Given the description of an element on the screen output the (x, y) to click on. 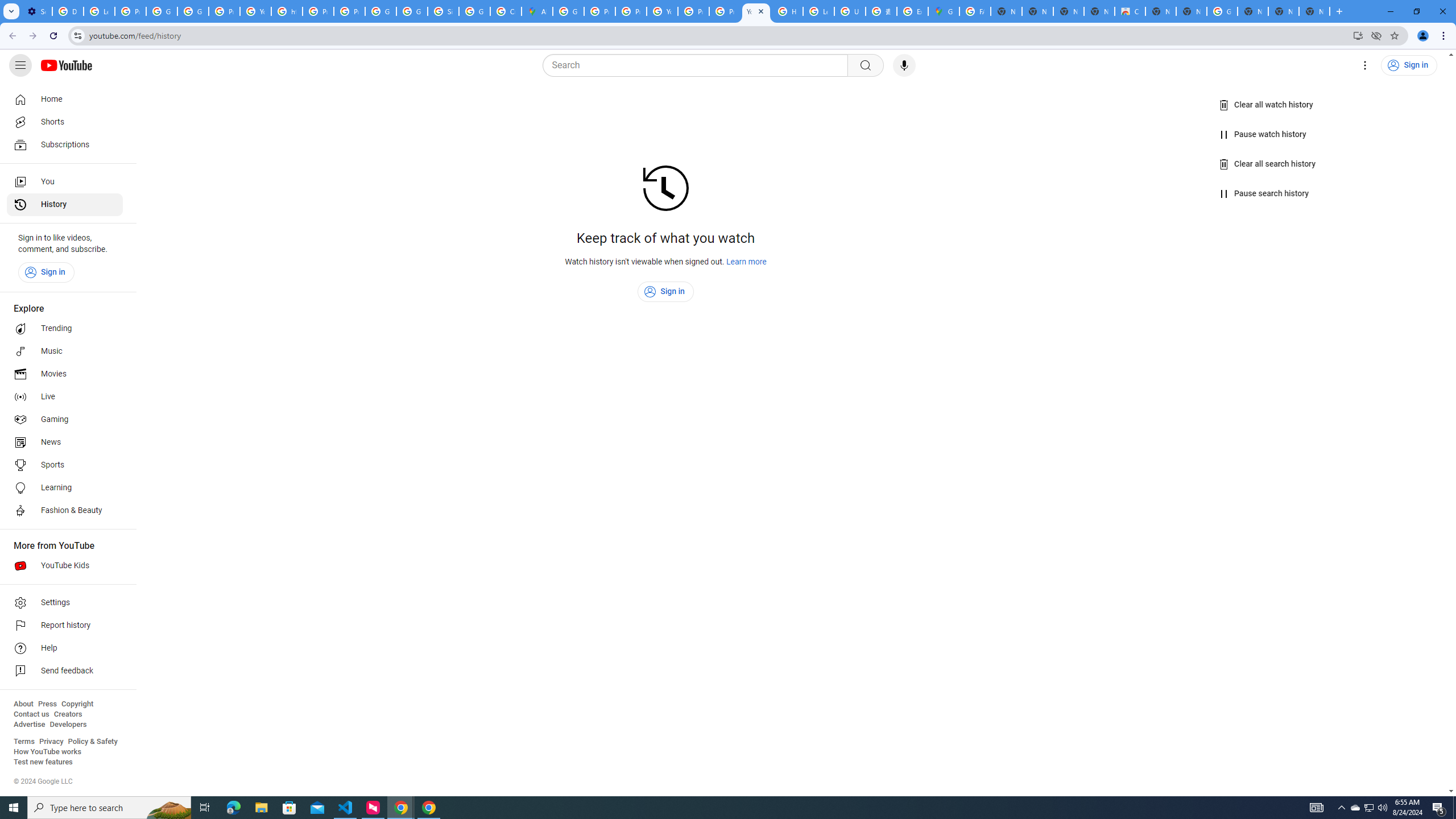
How YouTube works (47, 751)
About (23, 703)
Privacy Checkup (724, 11)
New Tab (1314, 11)
Press (46, 703)
Copyright (77, 703)
Learning (64, 487)
